Given the description of an element on the screen output the (x, y) to click on. 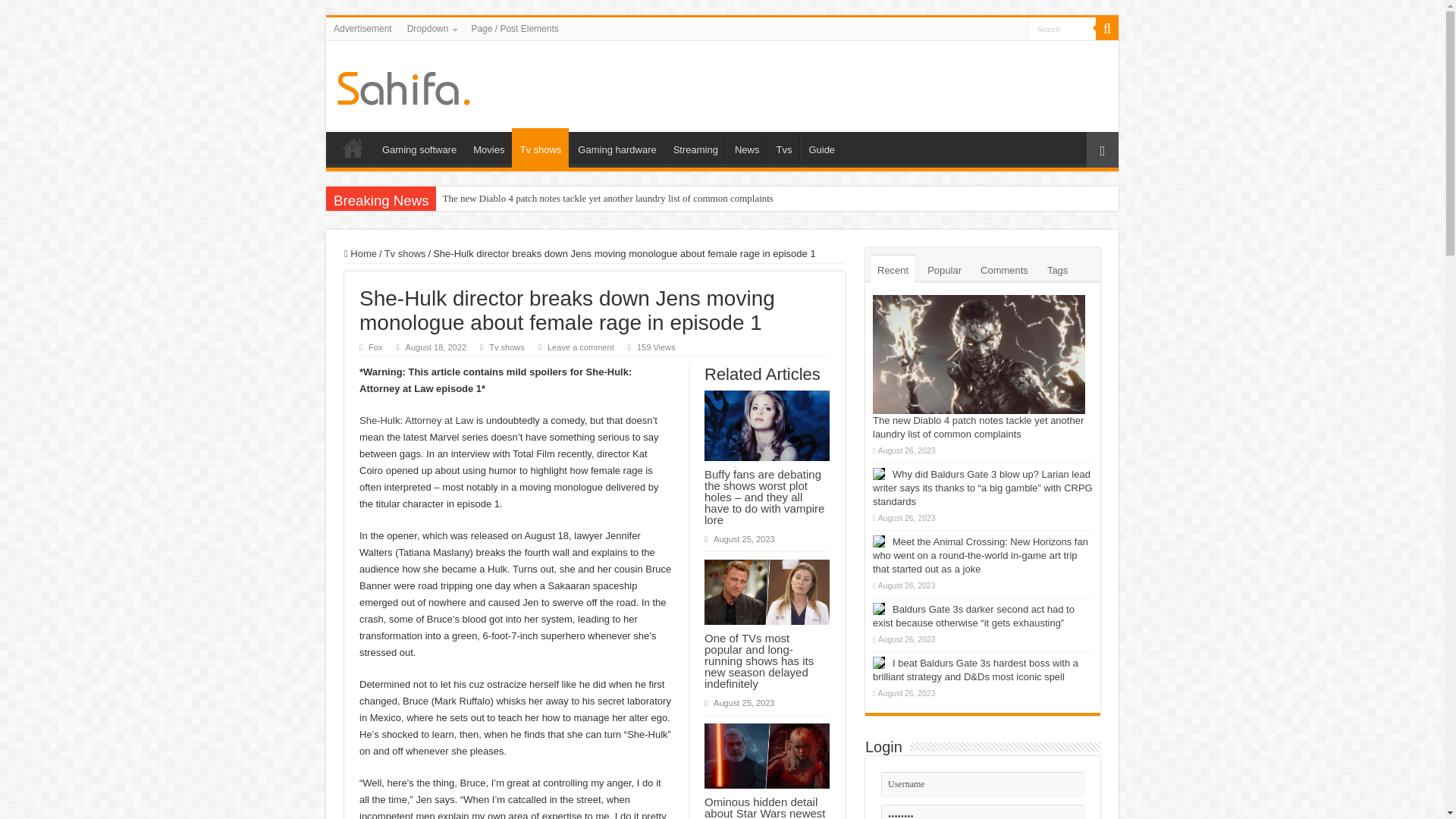
Search (1061, 28)
Username (982, 784)
Gaming software (419, 147)
News (746, 147)
Streaming (695, 147)
Movies (488, 147)
Advertisement (362, 28)
Guide (821, 147)
